Given the description of an element on the screen output the (x, y) to click on. 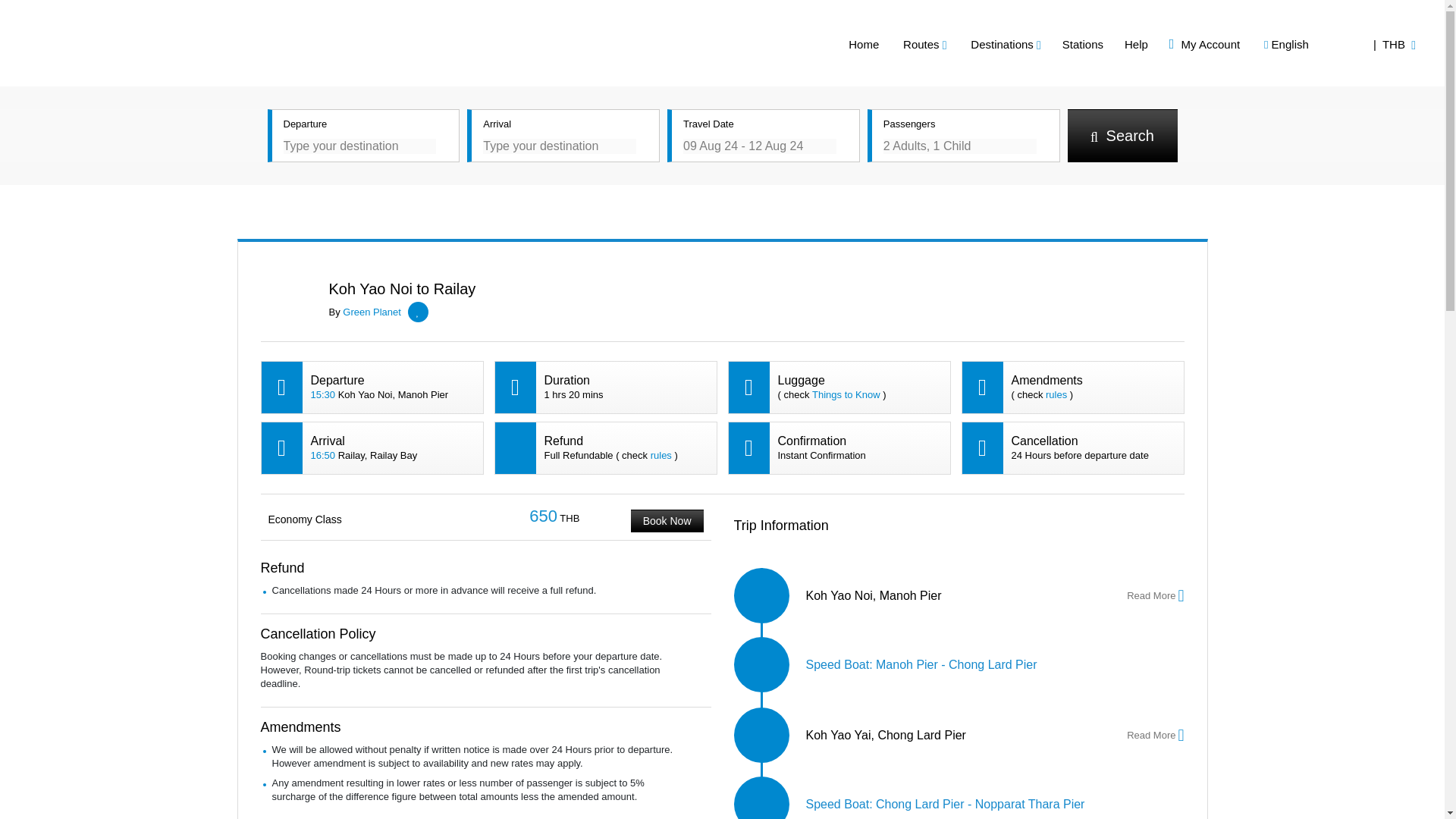
Routes (962, 43)
Search (1122, 135)
Tell a Friend (1185, 218)
Help (1173, 43)
My Account (1241, 44)
Home (900, 43)
Stations (1119, 43)
Destinations (1043, 43)
Phuket Ferry (154, 40)
